Given the description of an element on the screen output the (x, y) to click on. 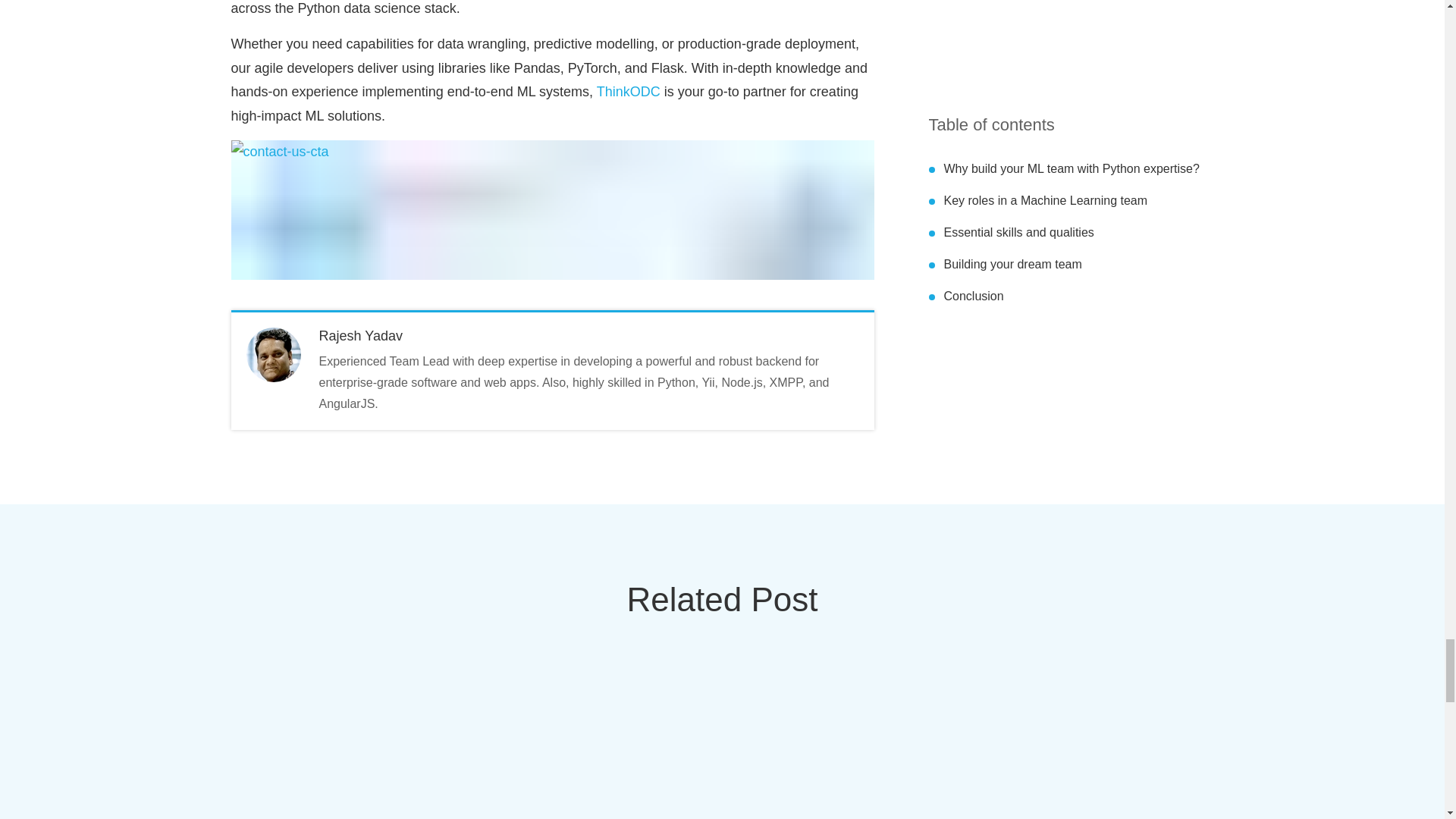
Rajesh Yadav (359, 335)
ThinkODC (628, 91)
